Given the description of an element on the screen output the (x, y) to click on. 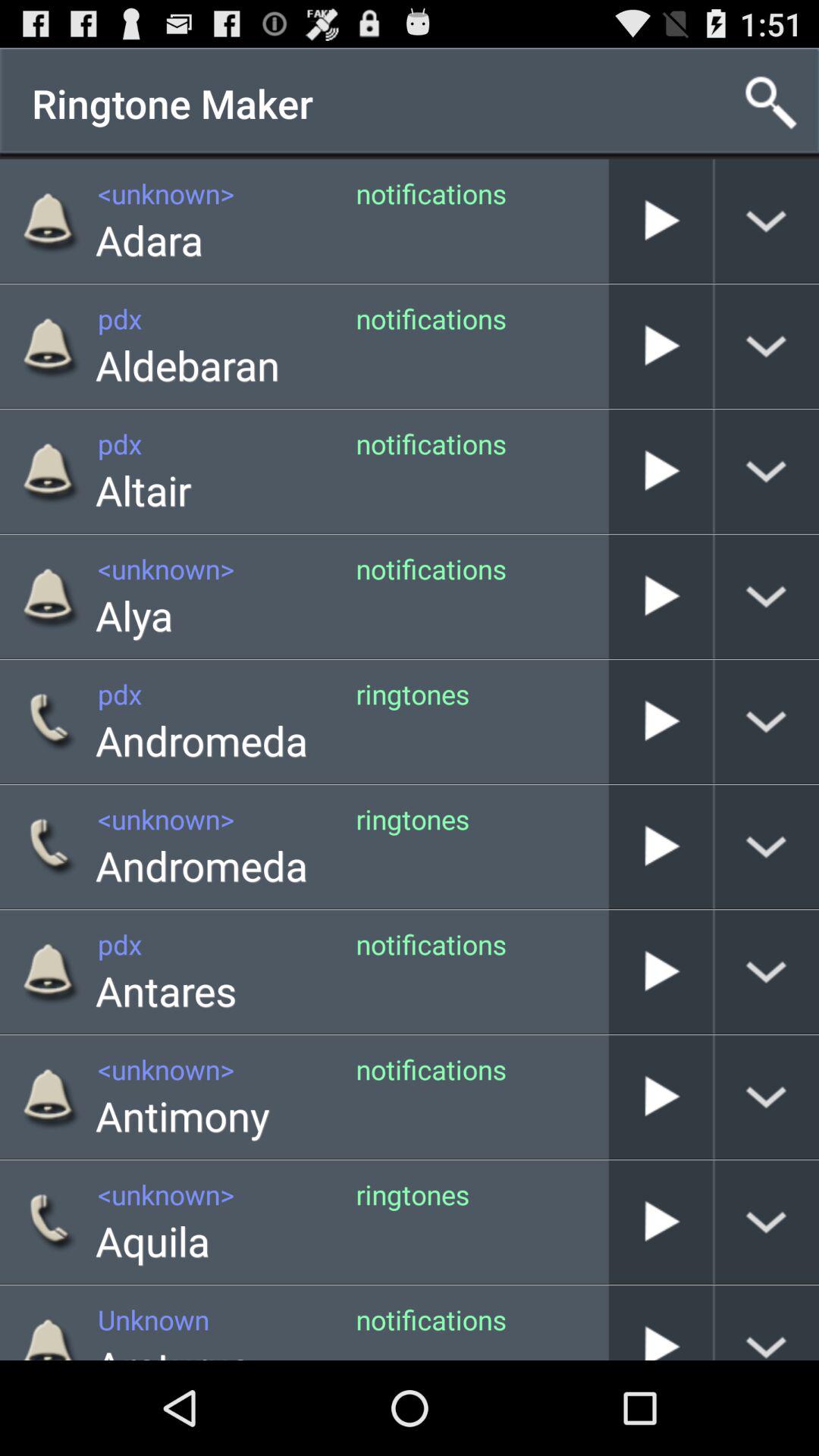
select ringtone (660, 471)
